Given the description of an element on the screen output the (x, y) to click on. 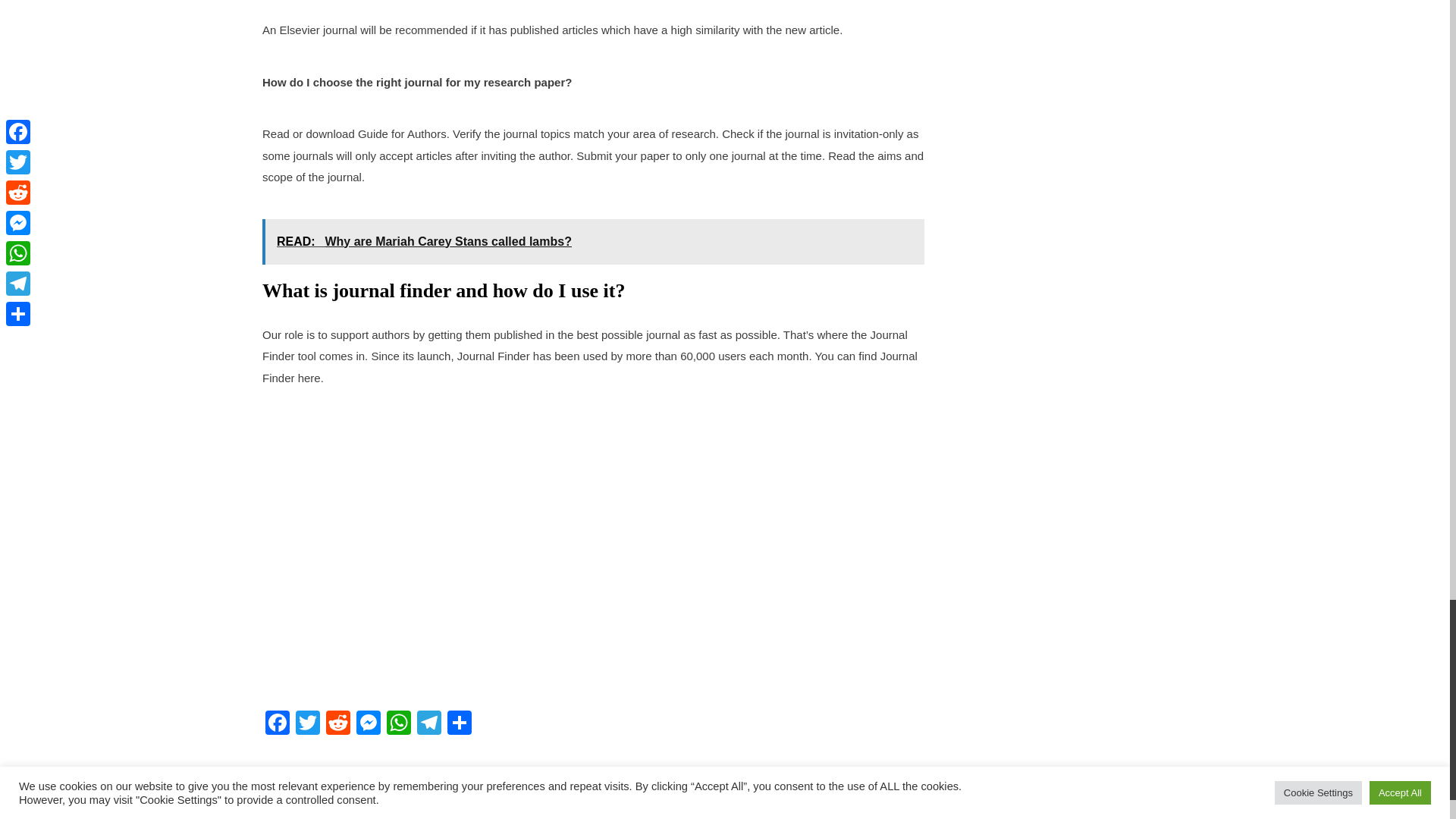
Messenger (368, 724)
Facebook (277, 724)
Twitter (307, 724)
WhatsApp (398, 724)
Facebook (277, 724)
Reddit (338, 724)
Twitter (307, 724)
READ:   Why are Mariah Carey Stans called lambs? (593, 241)
Telegram (428, 724)
